Given the description of an element on the screen output the (x, y) to click on. 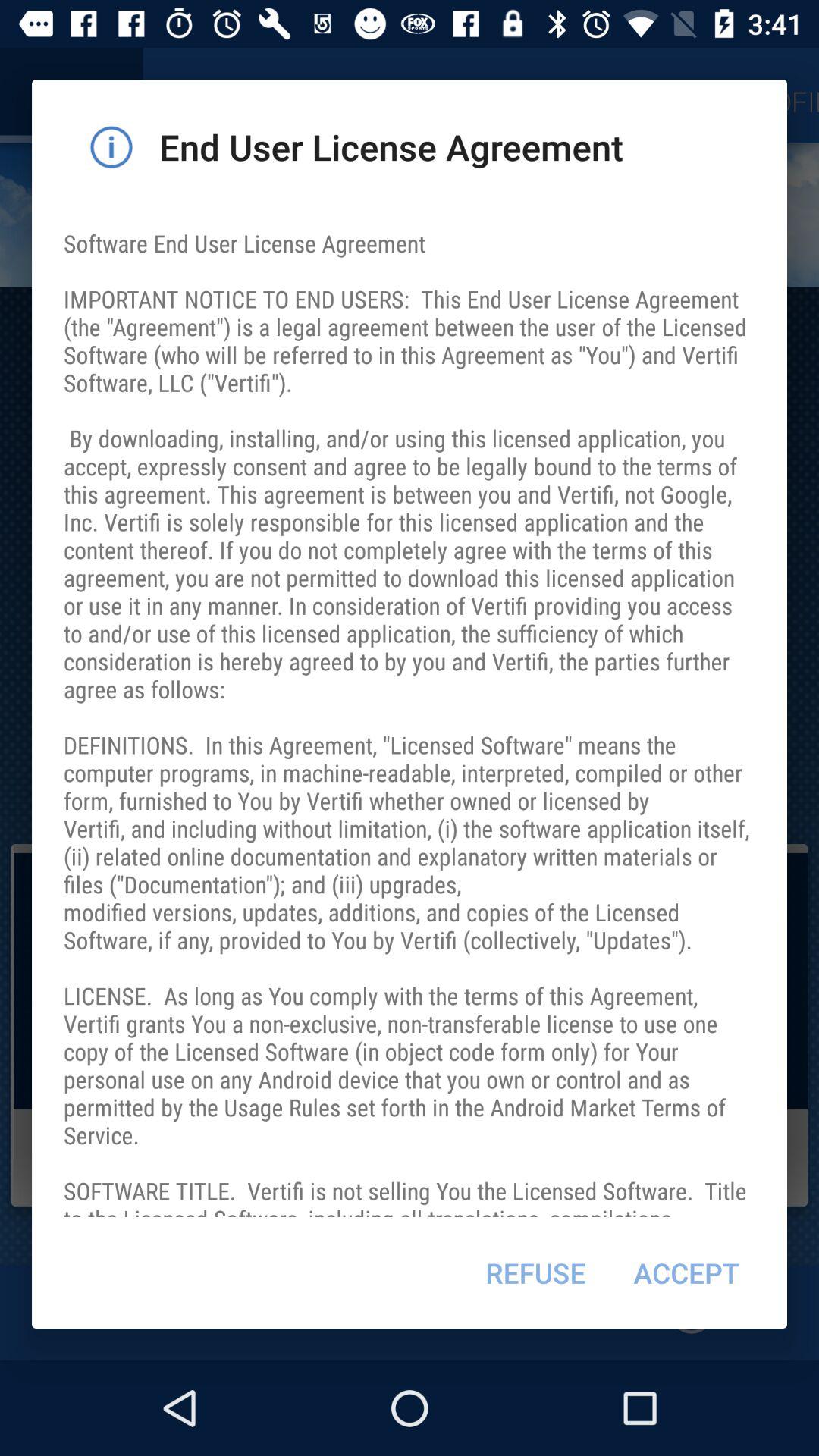
turn on item at the bottom (535, 1272)
